Given the description of an element on the screen output the (x, y) to click on. 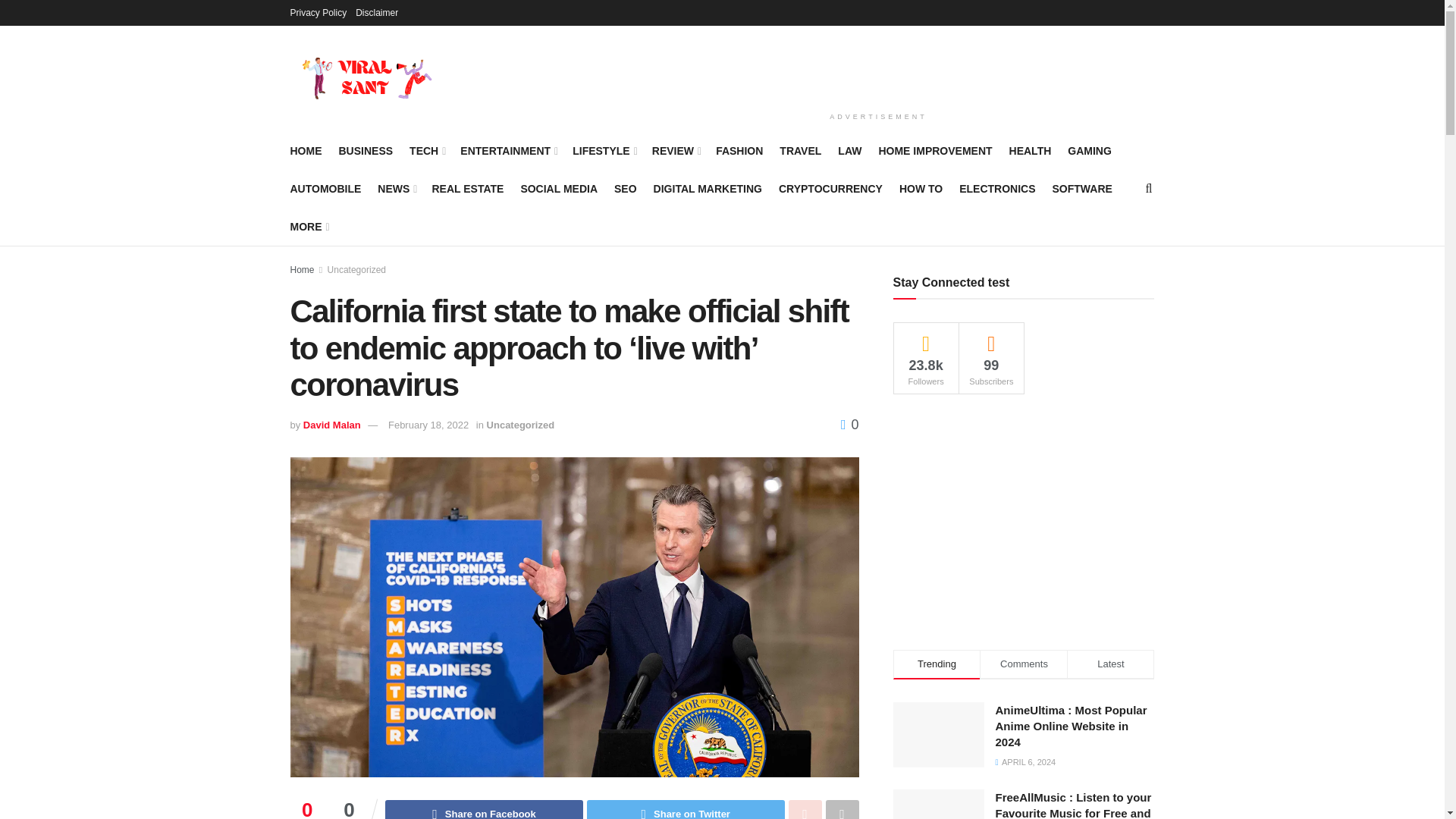
HOME (305, 150)
Disclaimer (376, 12)
LIFESTYLE (603, 150)
ENTERTAINMENT (508, 150)
Privacy Policy (317, 12)
TECH (426, 150)
Advertisement (878, 65)
BUSINESS (365, 150)
